Given the description of an element on the screen output the (x, y) to click on. 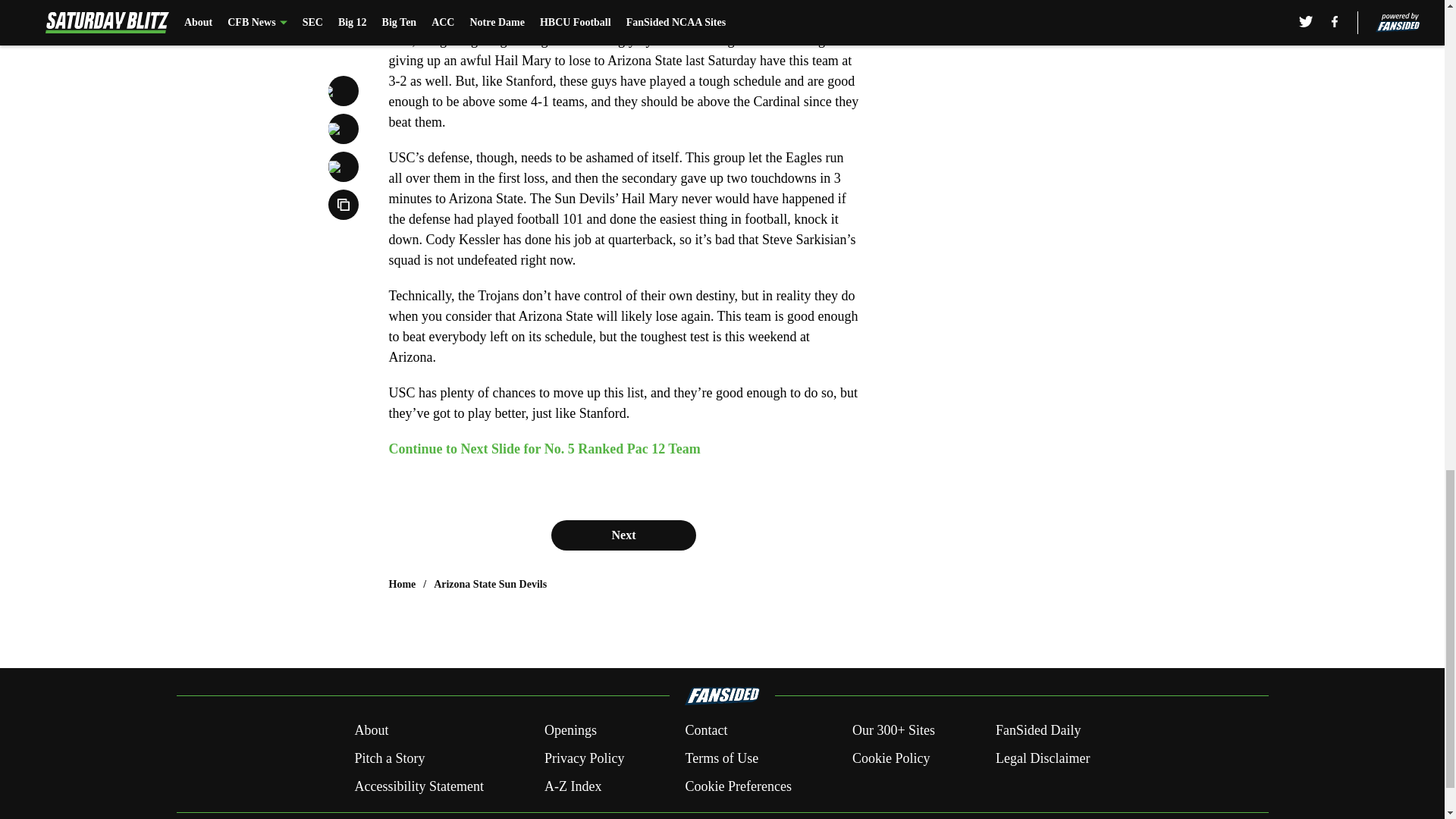
Privacy Policy (584, 758)
About (370, 730)
Openings (570, 730)
Next (622, 535)
Contact (705, 730)
FanSided Daily (1038, 730)
Home (401, 584)
Pitch a Story (389, 758)
Arizona State Sun Devils (490, 584)
Continue to Next Slide for No. 5 Ranked Pac 12 Team (544, 448)
